Given the description of an element on the screen output the (x, y) to click on. 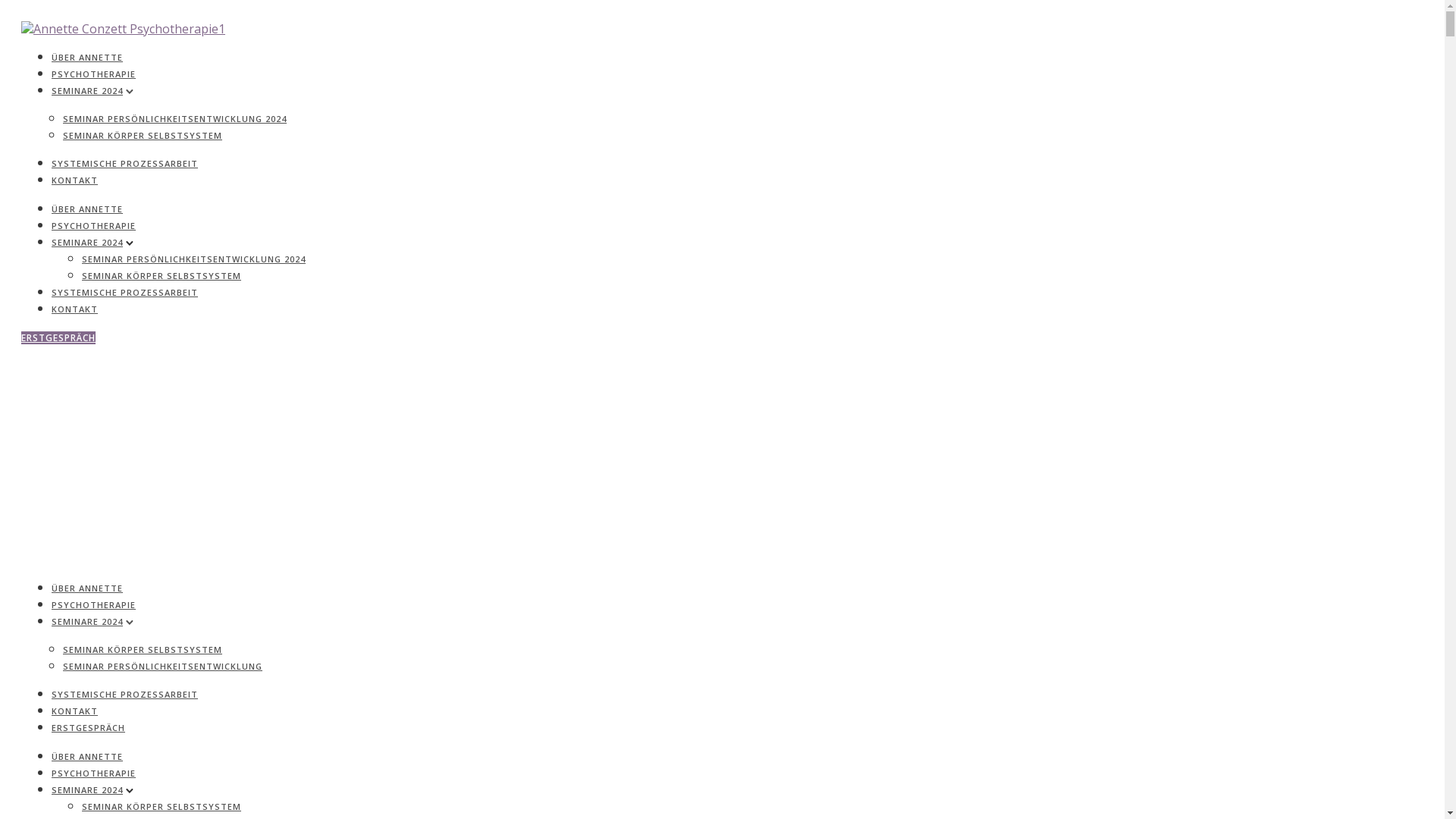
PSYCHOTHERAPIE Element type: text (93, 73)
KONTAKT Element type: text (74, 710)
SEMINARE 2024 Element type: text (86, 90)
KONTAKT Element type: text (74, 179)
PSYCHOTHERAPIE Element type: text (93, 772)
SYSTEMISCHE PROZESSARBEIT Element type: text (124, 693)
SEMINARE 2024 Element type: text (86, 241)
PSYCHOTHERAPIE Element type: text (93, 604)
SEMINARE 2024 Element type: text (86, 621)
SEMINARE 2024 Element type: text (86, 789)
SYSTEMISCHE PROZESSARBEIT Element type: text (124, 163)
KONTAKT Element type: text (74, 308)
PSYCHOTHERAPIE Element type: text (93, 225)
SYSTEMISCHE PROZESSARBEIT Element type: text (124, 292)
